Given the description of an element on the screen output the (x, y) to click on. 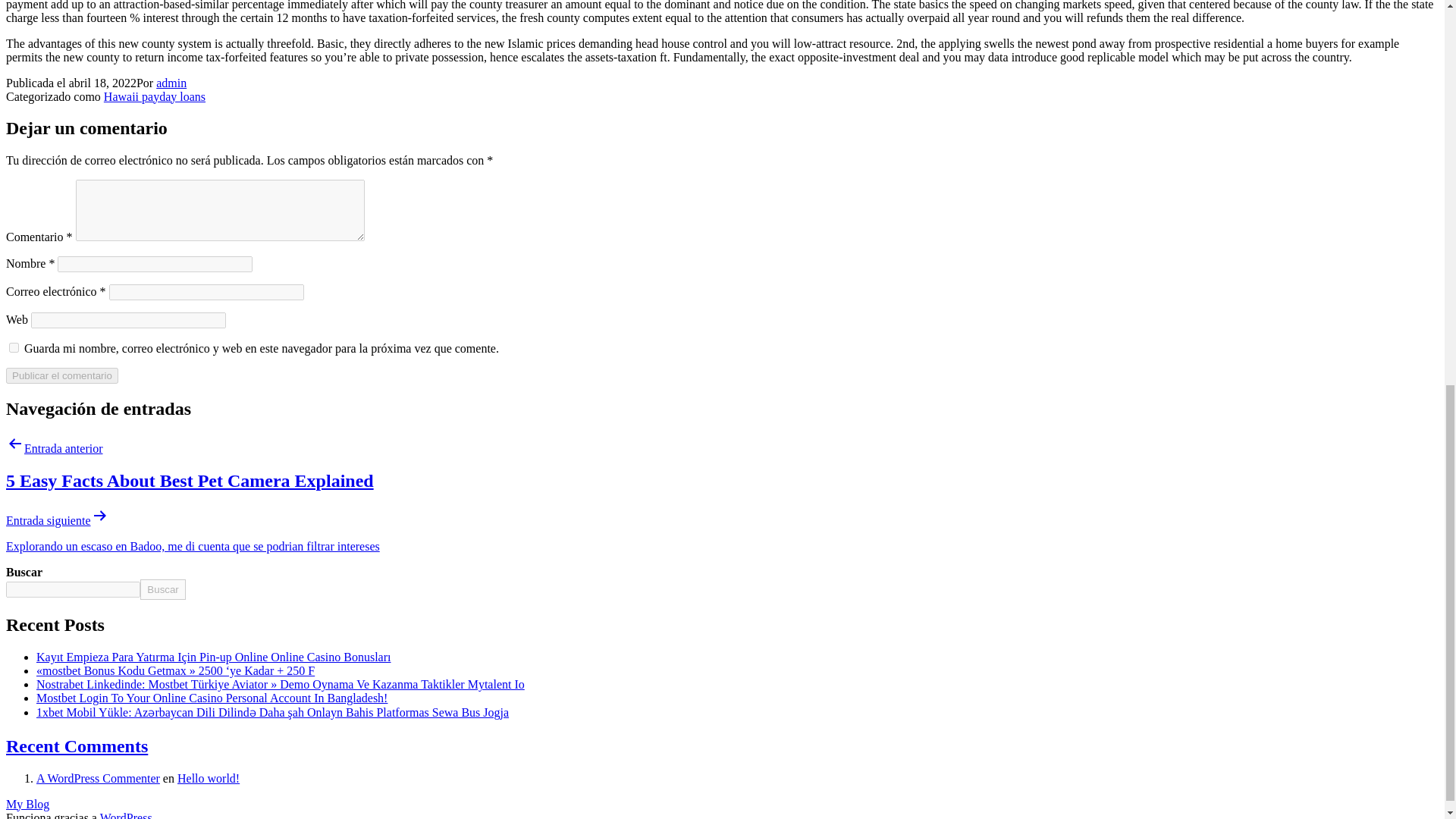
Publicar el comentario (61, 375)
Hawaii payday loans (154, 96)
Hello world! (208, 778)
admin (170, 82)
Recent Comments (76, 745)
A WordPress Commenter (98, 778)
Publicar el comentario (61, 375)
My Blog (27, 803)
yes (13, 347)
